Given the description of an element on the screen output the (x, y) to click on. 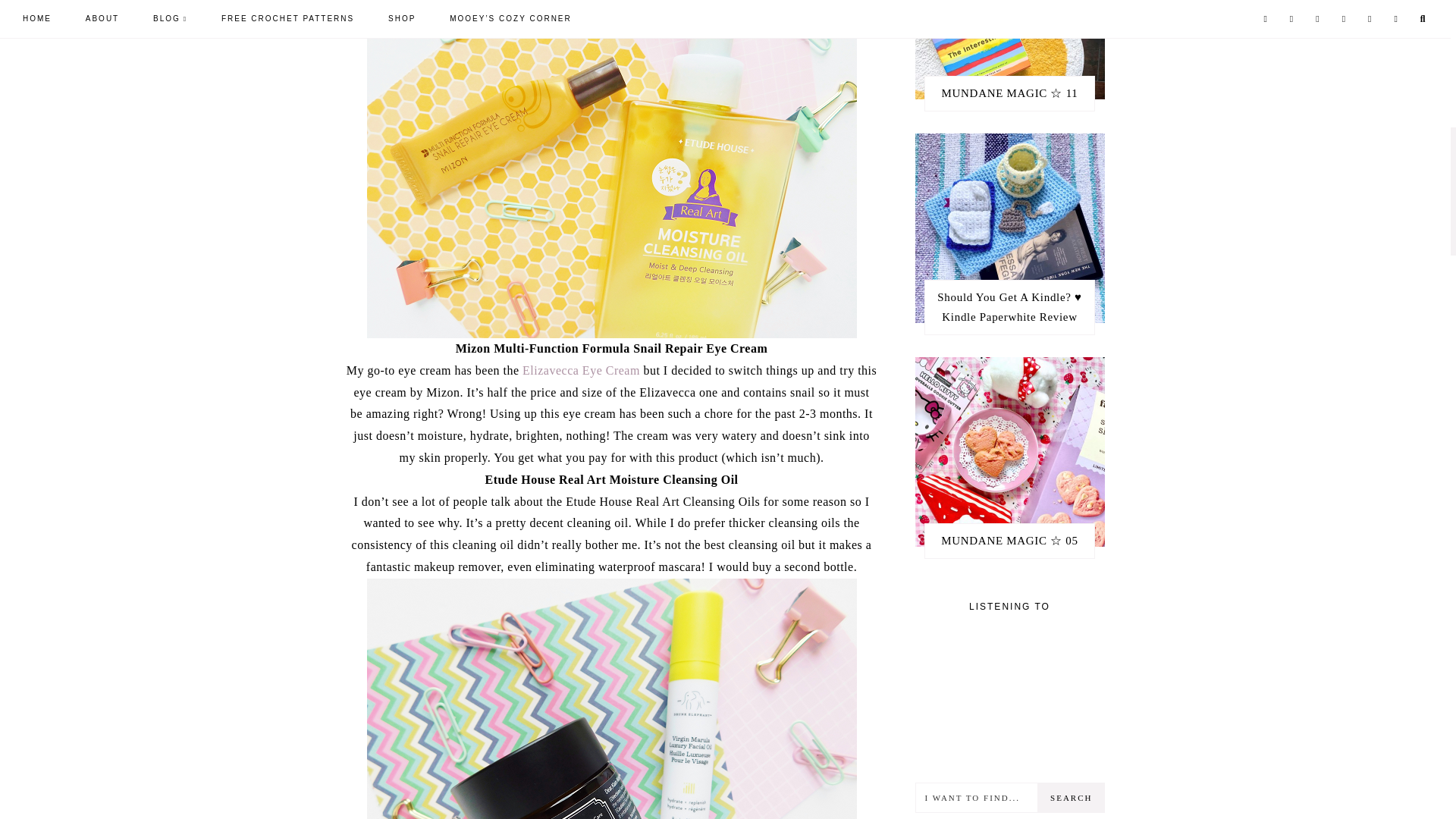
search (1071, 797)
Skincare Empties (611, 698)
search (1071, 797)
